Given the description of an element on the screen output the (x, y) to click on. 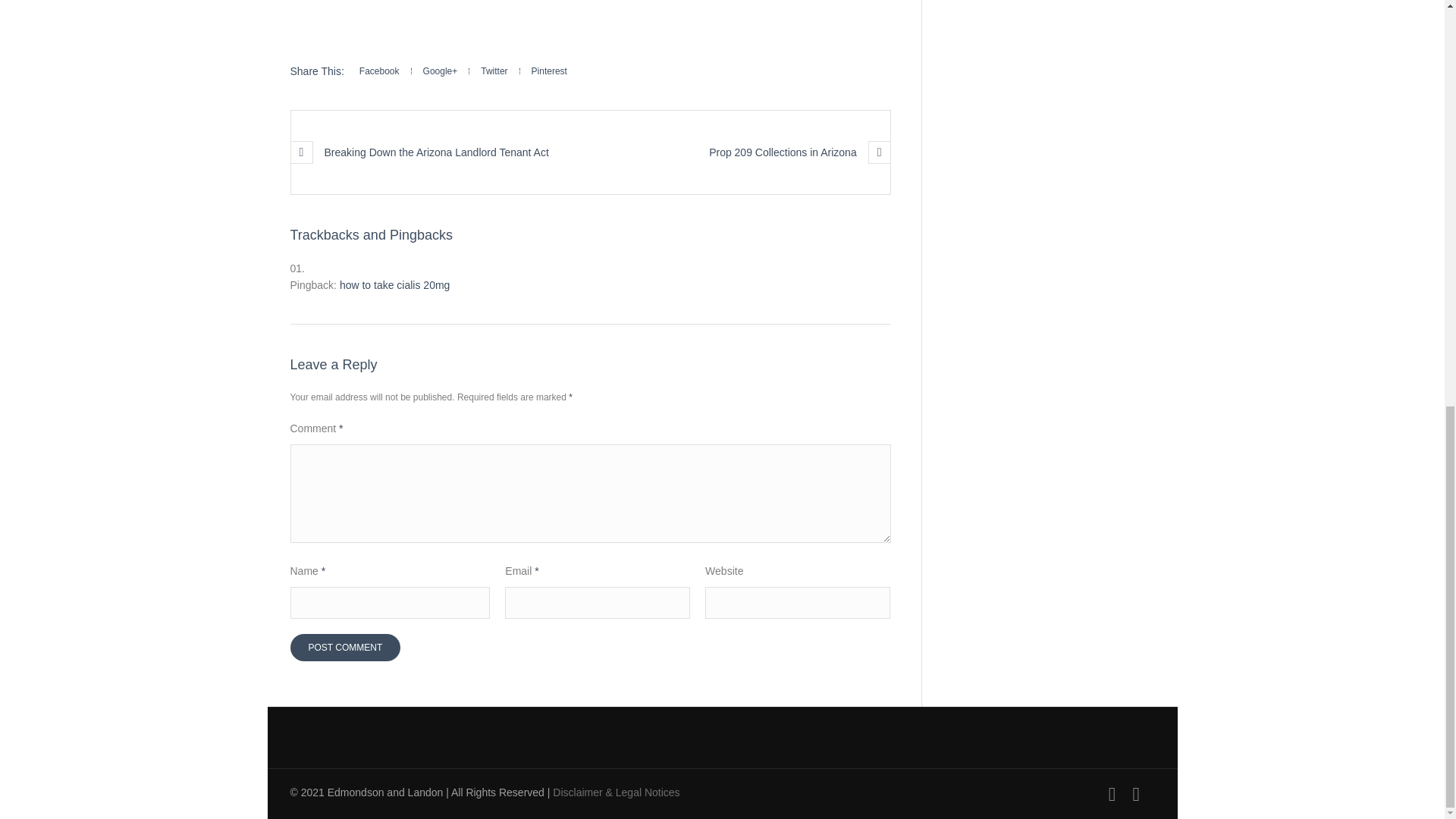
Prop 209 Collections in Arizona (796, 151)
Breaking Down the Arizona Landlord Tenant Act (422, 151)
Pinterest (548, 71)
LinkedIn (1141, 793)
Post Comment (344, 646)
Post Comment (344, 646)
Facebook (1117, 793)
Facebook (384, 71)
how to take cialis 20mg (394, 285)
Twitter (493, 71)
